Given the description of an element on the screen output the (x, y) to click on. 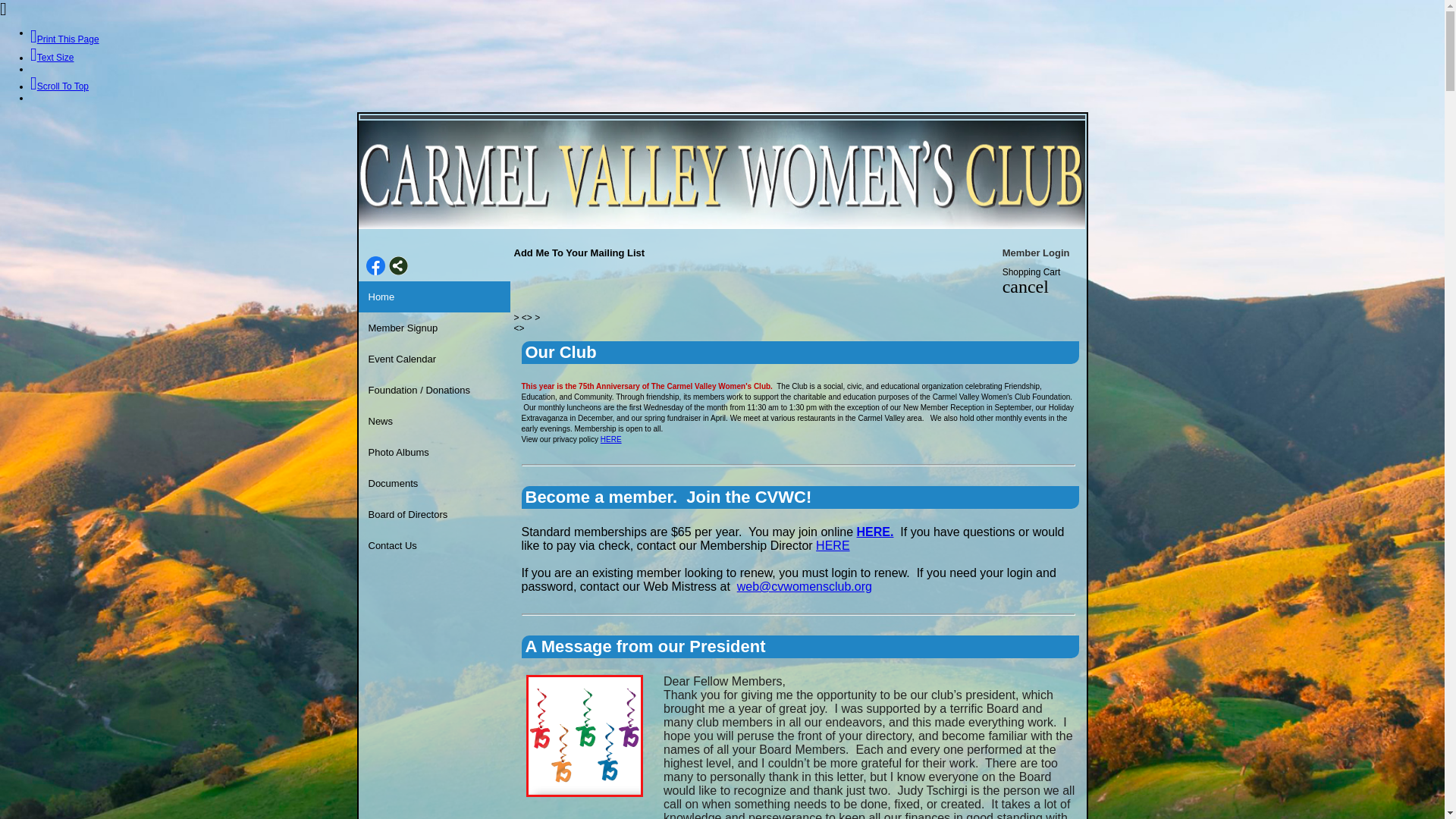
Board of Directors (434, 514)
Print (64, 39)
Event Calendar (434, 358)
Home (434, 296)
Click here for more sharing options (397, 265)
cancel (1025, 289)
News (434, 420)
Photo Albums (434, 452)
HERE (610, 438)
Member Signup (434, 327)
HERE. (875, 531)
Member Login (1036, 252)
Documents (434, 483)
75th.png (584, 735)
Text Size (52, 57)
